Given the description of an element on the screen output the (x, y) to click on. 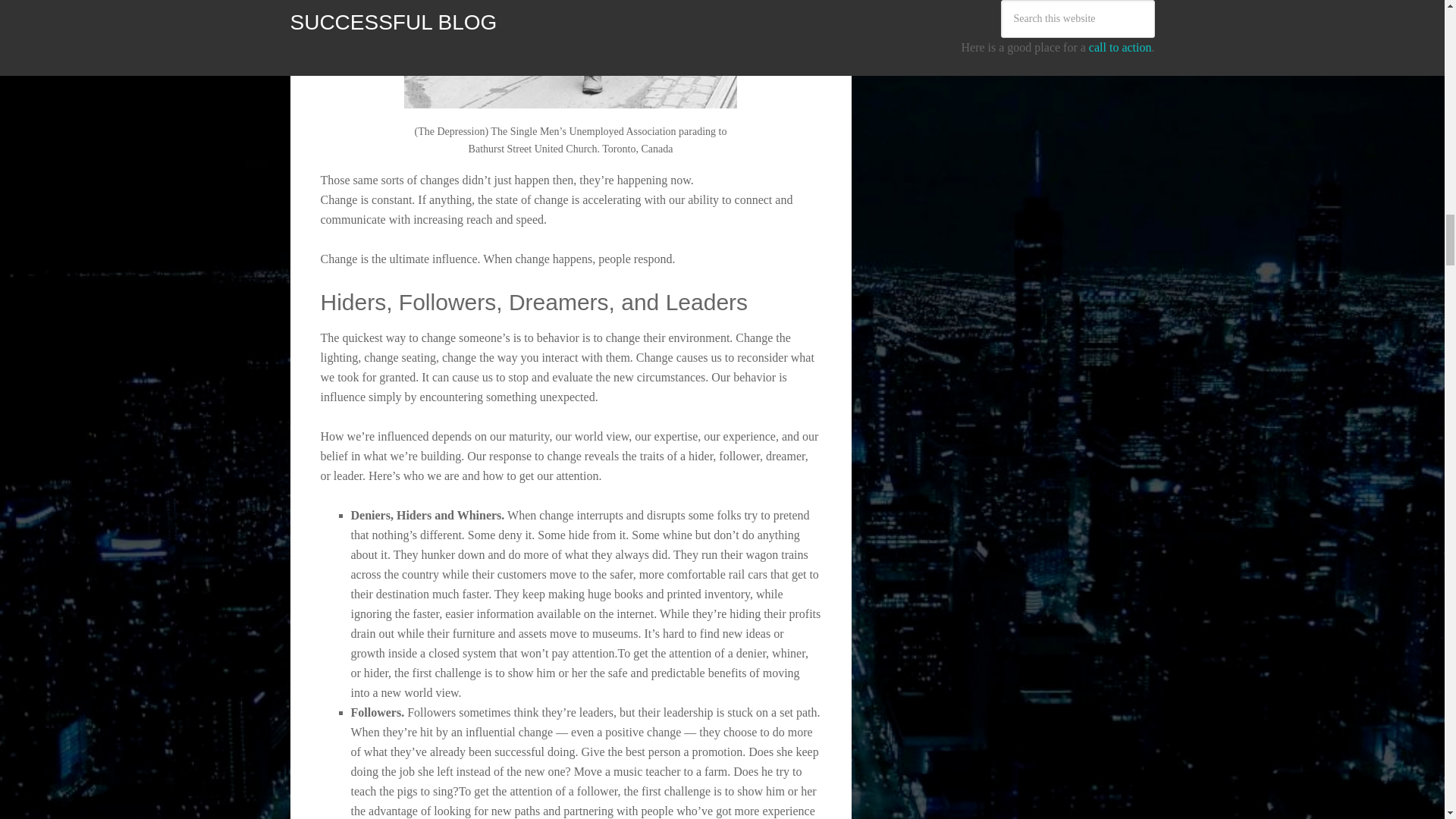
unemployedmarch (570, 54)
